Given the description of an element on the screen output the (x, y) to click on. 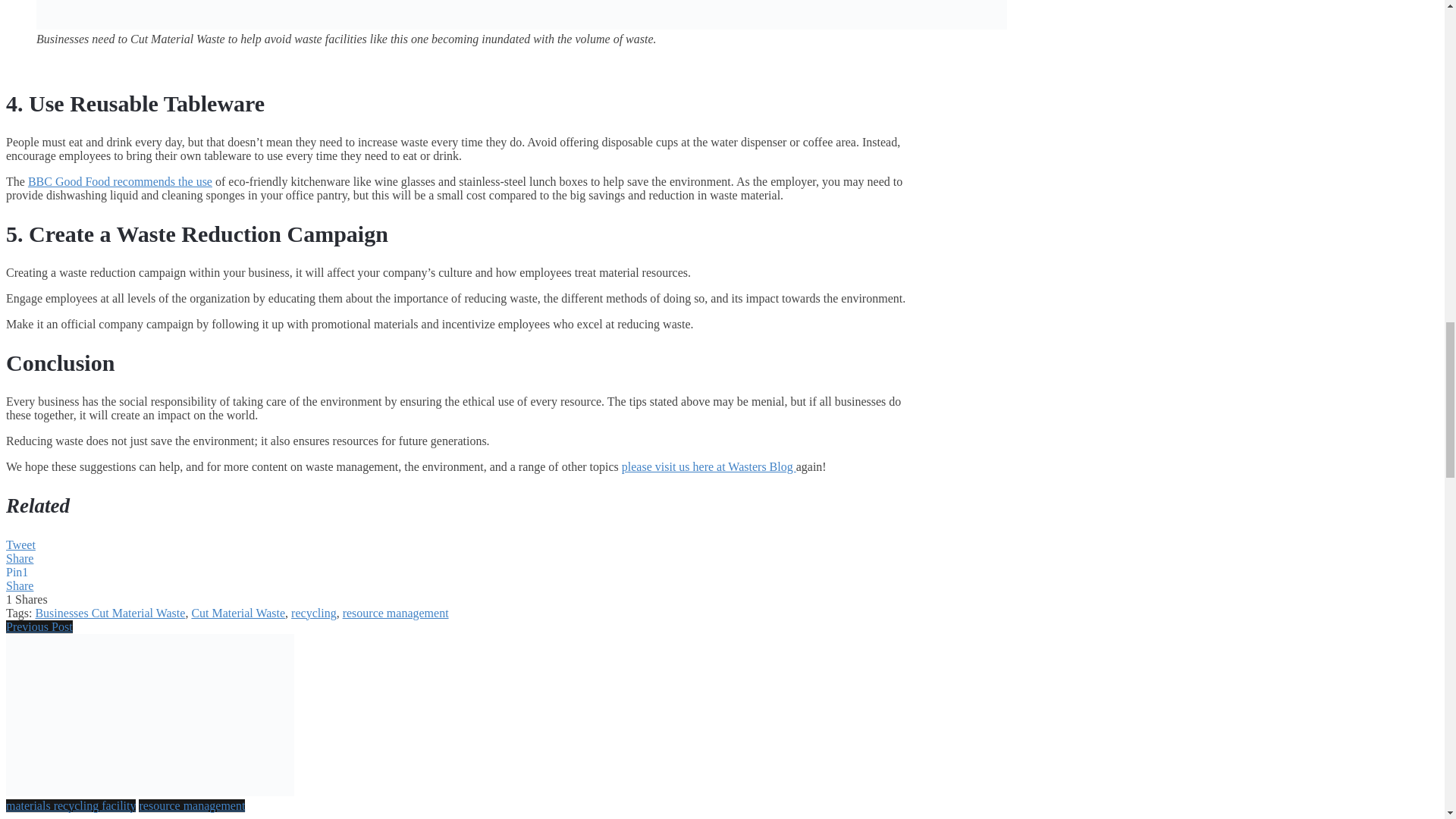
BBC Good Food recommends the use (119, 181)
materials recycling facility (70, 805)
Previous Post (38, 626)
recycling (313, 612)
please visit us here at Wasters Blog (708, 466)
Share (19, 585)
Pin1 (16, 571)
Businesses Cut Material Waste (109, 612)
Share (19, 558)
Cut Material Waste (237, 612)
